Given the description of an element on the screen output the (x, y) to click on. 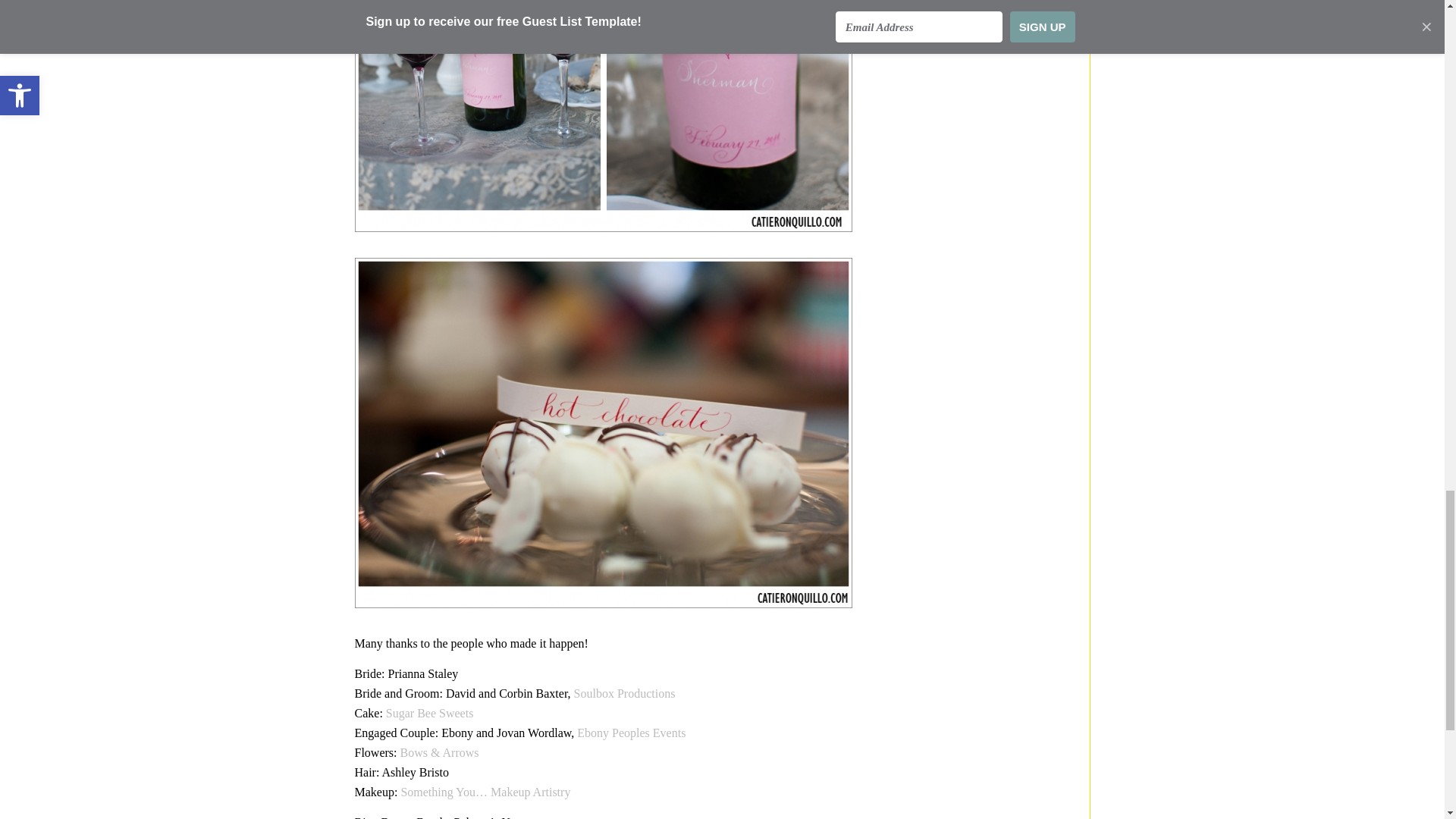
dallas calligrapher (603, 115)
sugar bee sweets (429, 712)
ebony peoples (630, 732)
soulbox (624, 693)
bows and arrows (439, 752)
something you (485, 791)
